Given the description of an element on the screen output the (x, y) to click on. 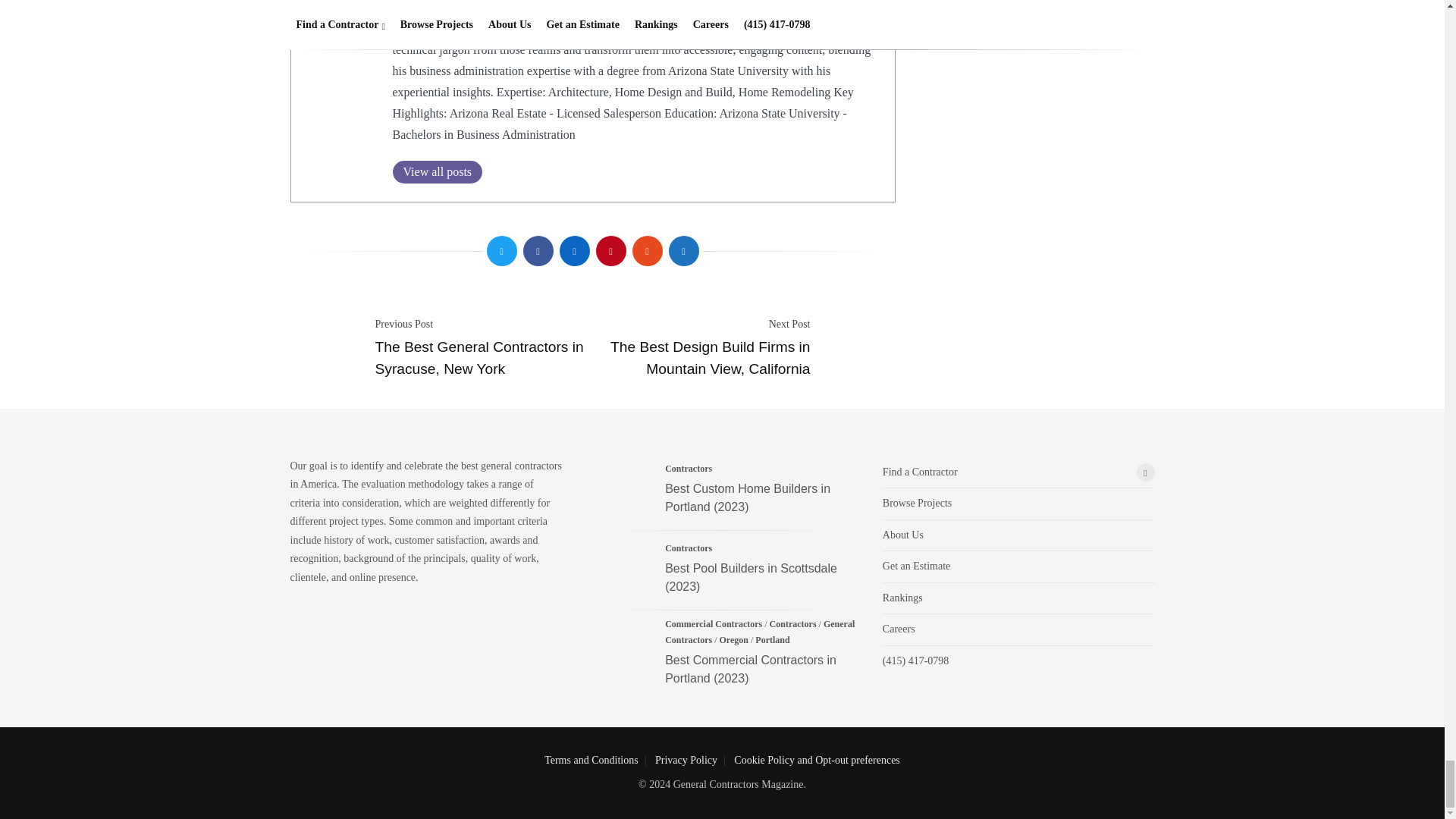
Pin this! (610, 250)
Share on Reddit (646, 250)
The Best General Contractors in Syracuse, New York (478, 357)
Share on Email (683, 250)
Tweet This! (501, 250)
View all posts (438, 171)
View all posts (438, 171)
Share on Facebook (537, 250)
Share on LinkedIn (574, 250)
